Given the description of an element on the screen output the (x, y) to click on. 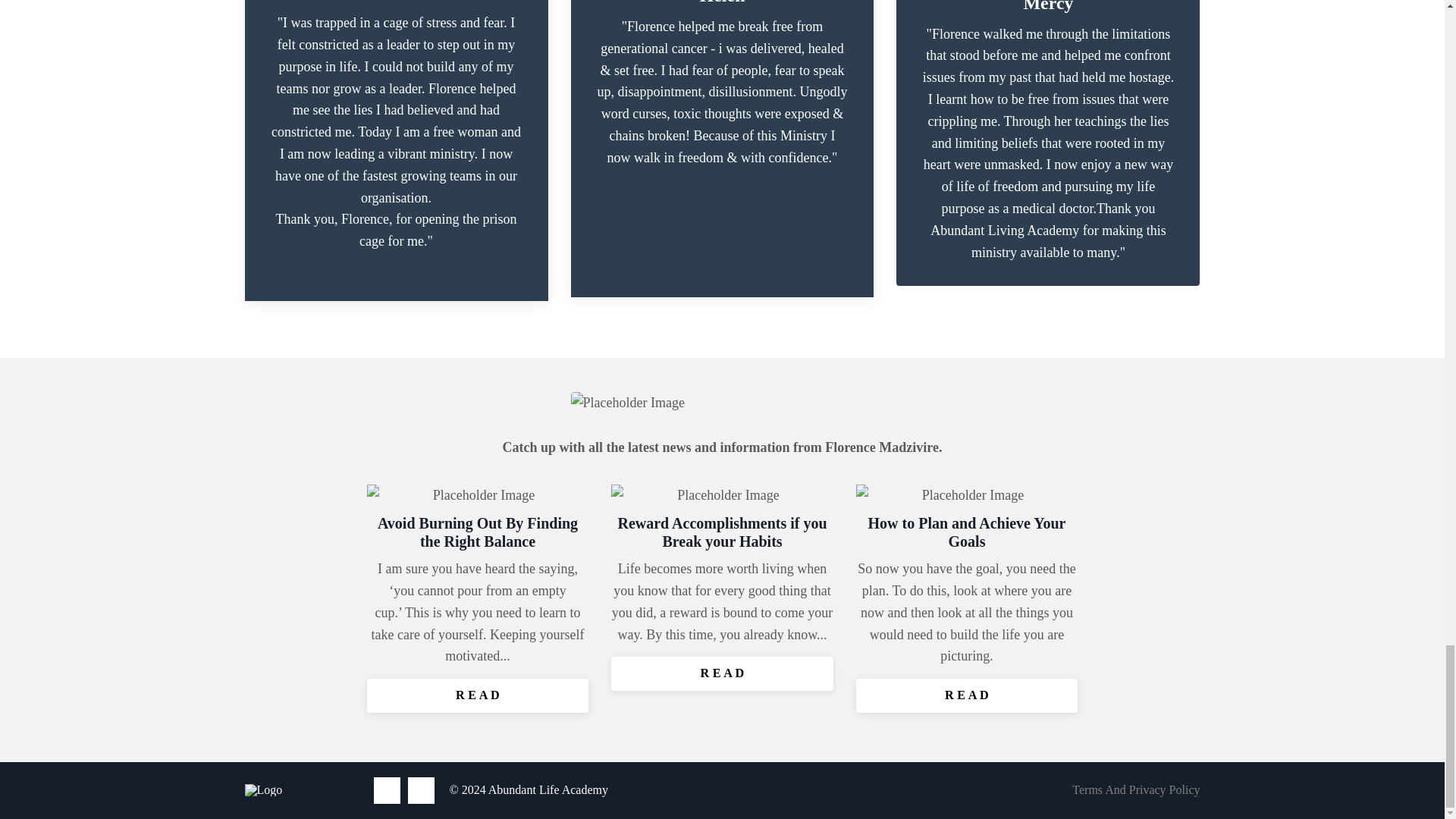
R E A D (967, 694)
R E A D (721, 673)
R E A D (477, 694)
